Given the description of an element on the screen output the (x, y) to click on. 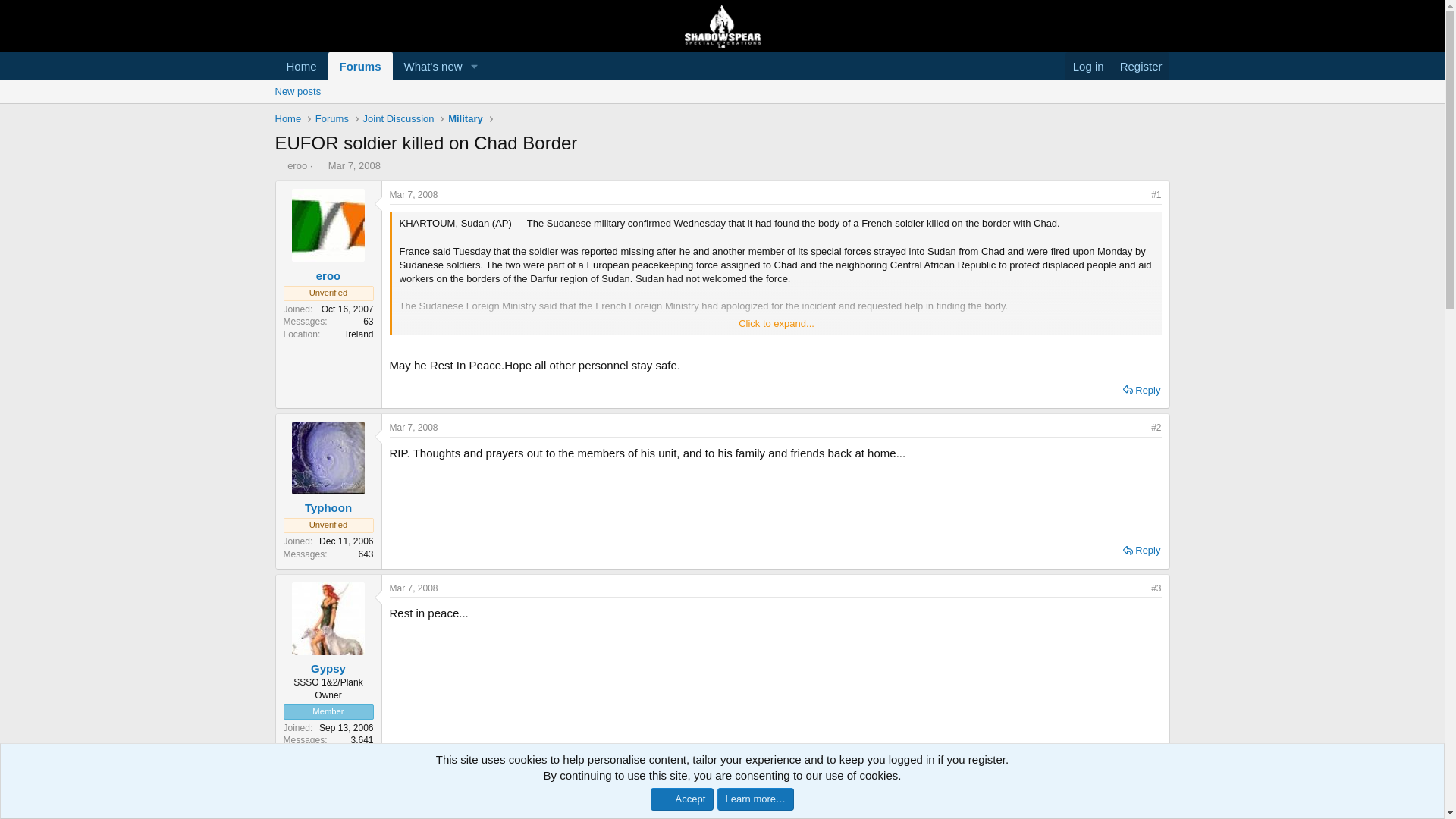
Log in (1088, 66)
Mar 7, 2008 at 11:38 AM (414, 194)
New posts (296, 91)
Home (301, 66)
Ireland (360, 334)
What's new (428, 66)
Mar 7, 2008 at 8:30 PM (414, 588)
New posts (720, 108)
Reply, quoting this message (379, 66)
